Given the description of an element on the screen output the (x, y) to click on. 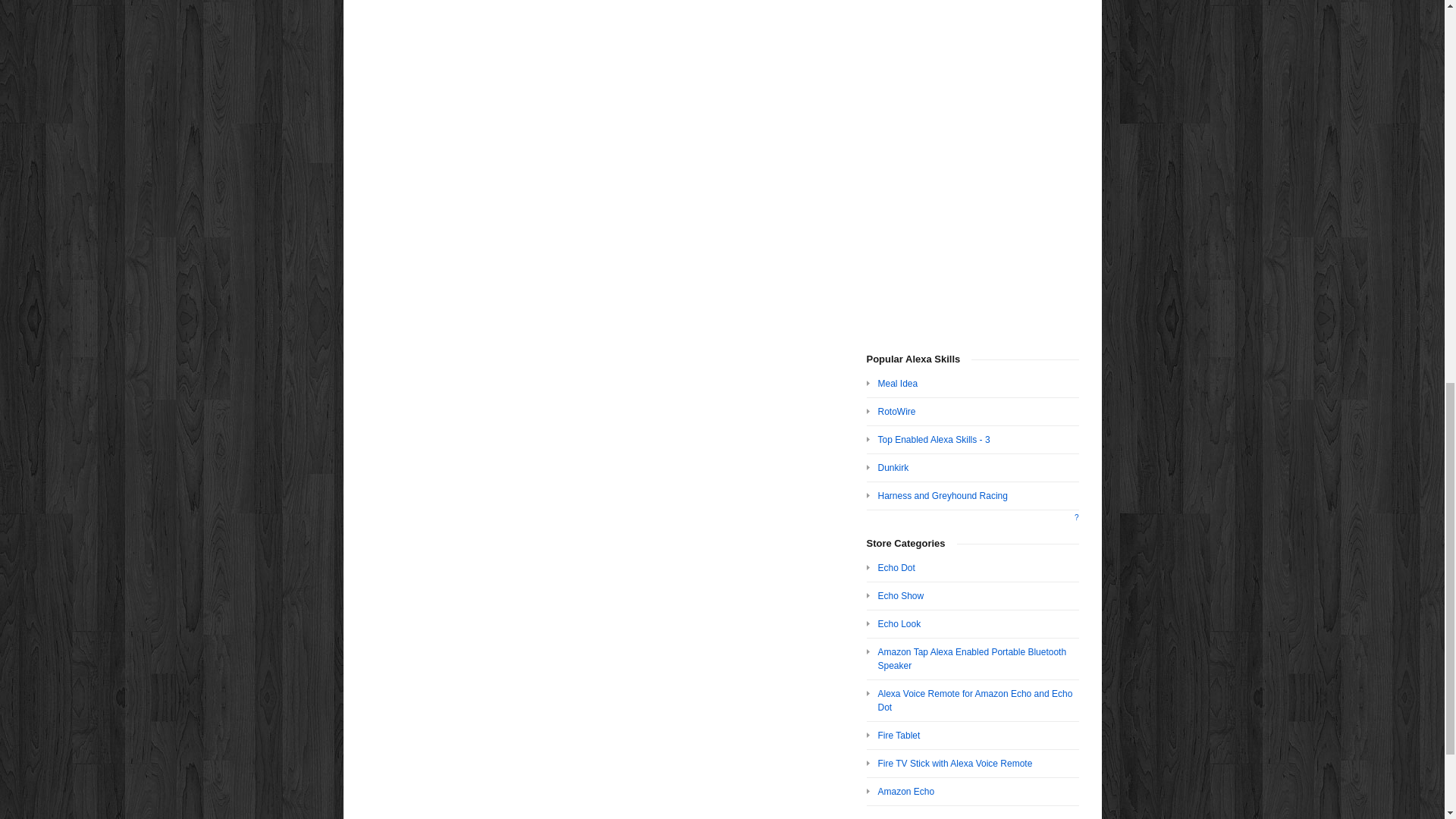
Meal Idea (897, 383)
Fire TV Stick with Alexa Voice Remote (954, 763)
Fire TV Stick with Alexa Voice Remote (954, 763)
RotoWire (896, 411)
Echo Show (900, 595)
Echo Show (900, 595)
Dunkirk (892, 467)
Echo Dot (896, 567)
More About This Widget (1076, 517)
Advertisement (972, 162)
Alexa Voice Remote for Amazon Echo and Echo Dot (975, 700)
? (1076, 517)
Amazon Echo (905, 791)
Amazon Echo (905, 791)
Top Enabled Alexa Skills - 3 (933, 439)
